Given the description of an element on the screen output the (x, y) to click on. 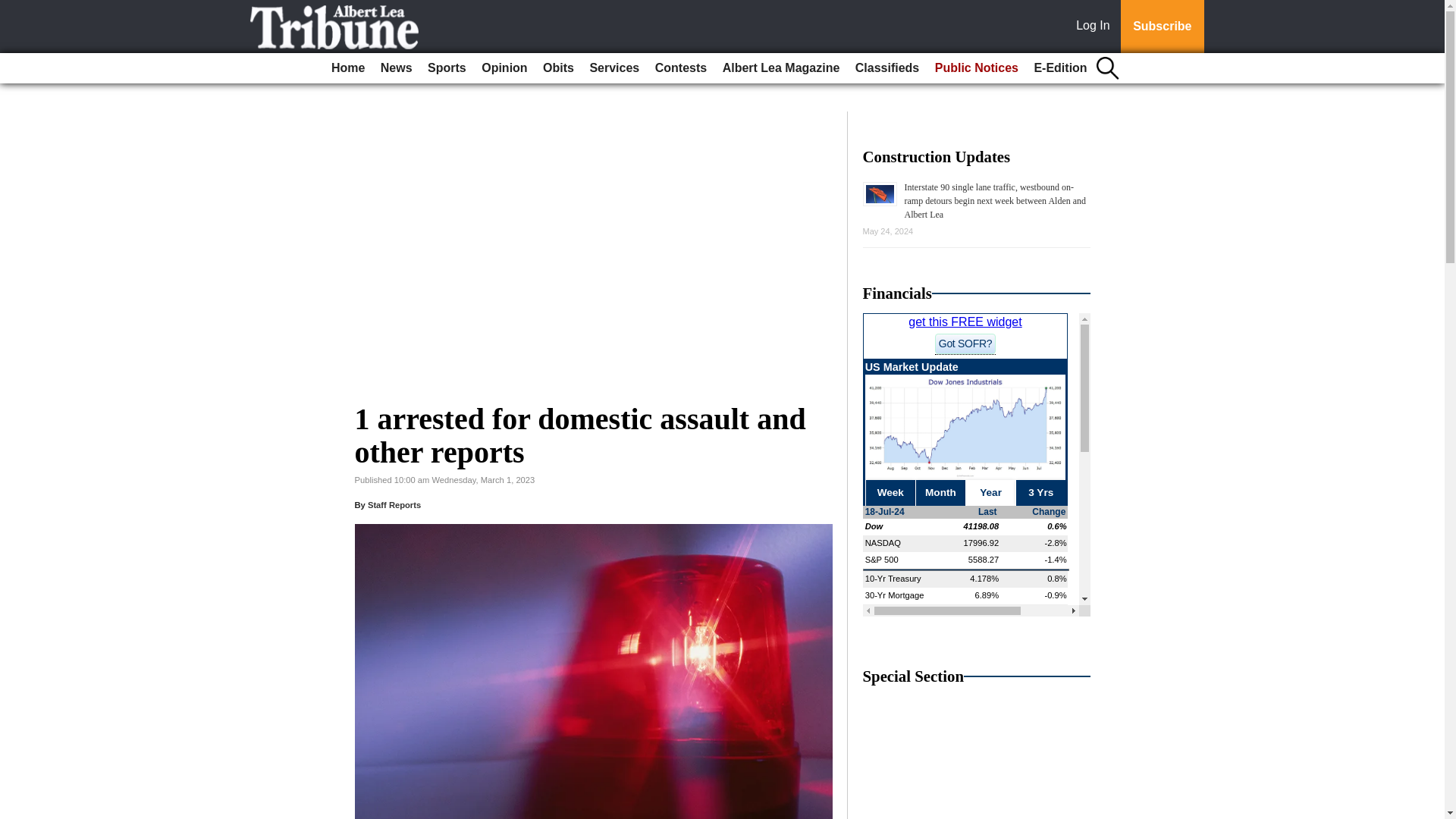
Subscribe (1162, 26)
News (396, 68)
Opinion (504, 68)
Log In (1095, 26)
Services (614, 68)
Home (347, 68)
Obits (558, 68)
Sports (446, 68)
